Given the description of an element on the screen output the (x, y) to click on. 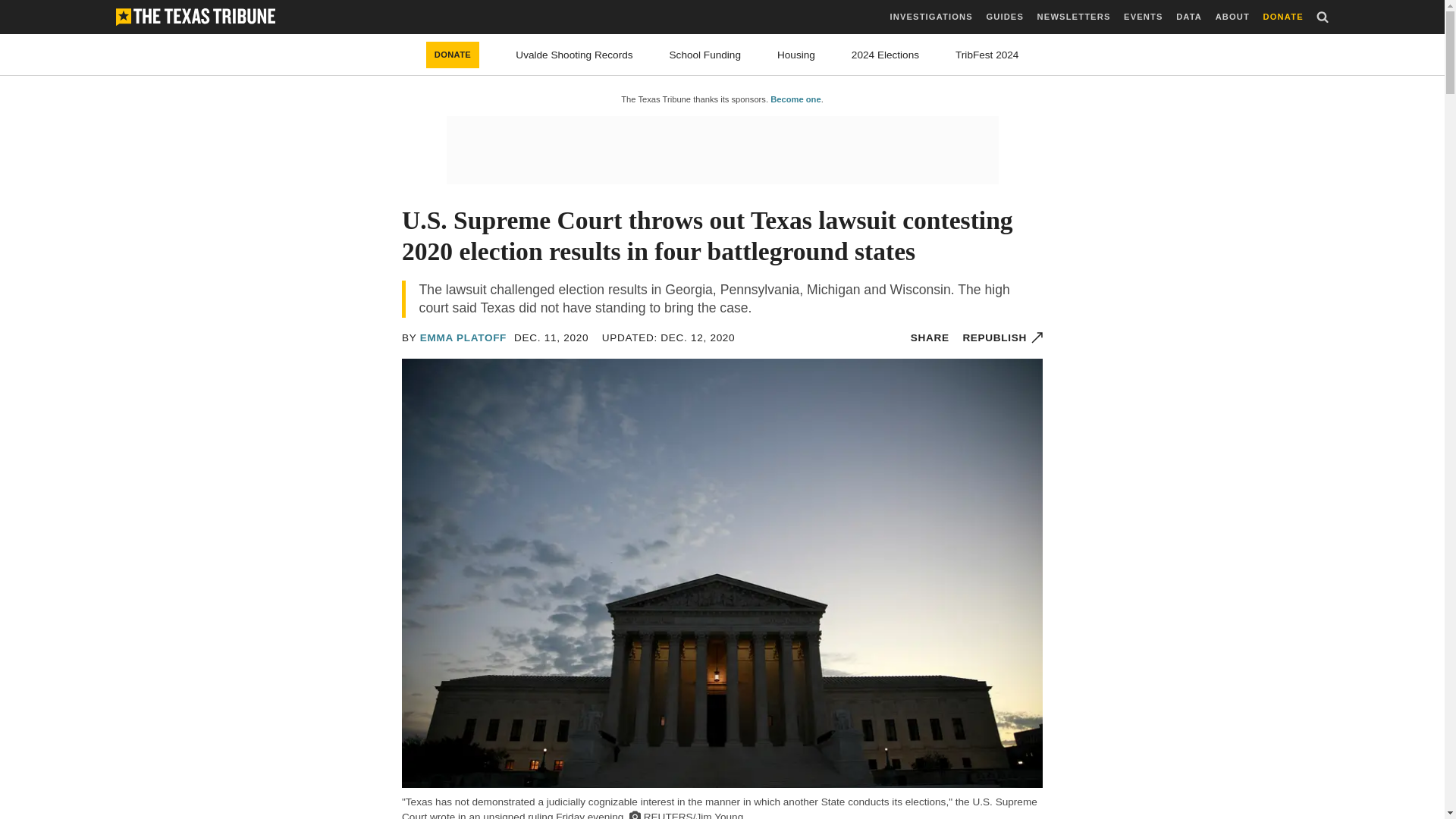
EVENTS (1142, 17)
DONATE (453, 54)
EMMA PLATOFF (463, 337)
DONATE (1283, 17)
NEWSLETTERS (1073, 17)
Uvalde Shooting Records (573, 54)
School Funding (705, 54)
2020-12-11 17:39 CST (550, 337)
2024 Elections (884, 54)
INVESTIGATIONS (930, 17)
